Given the description of an element on the screen output the (x, y) to click on. 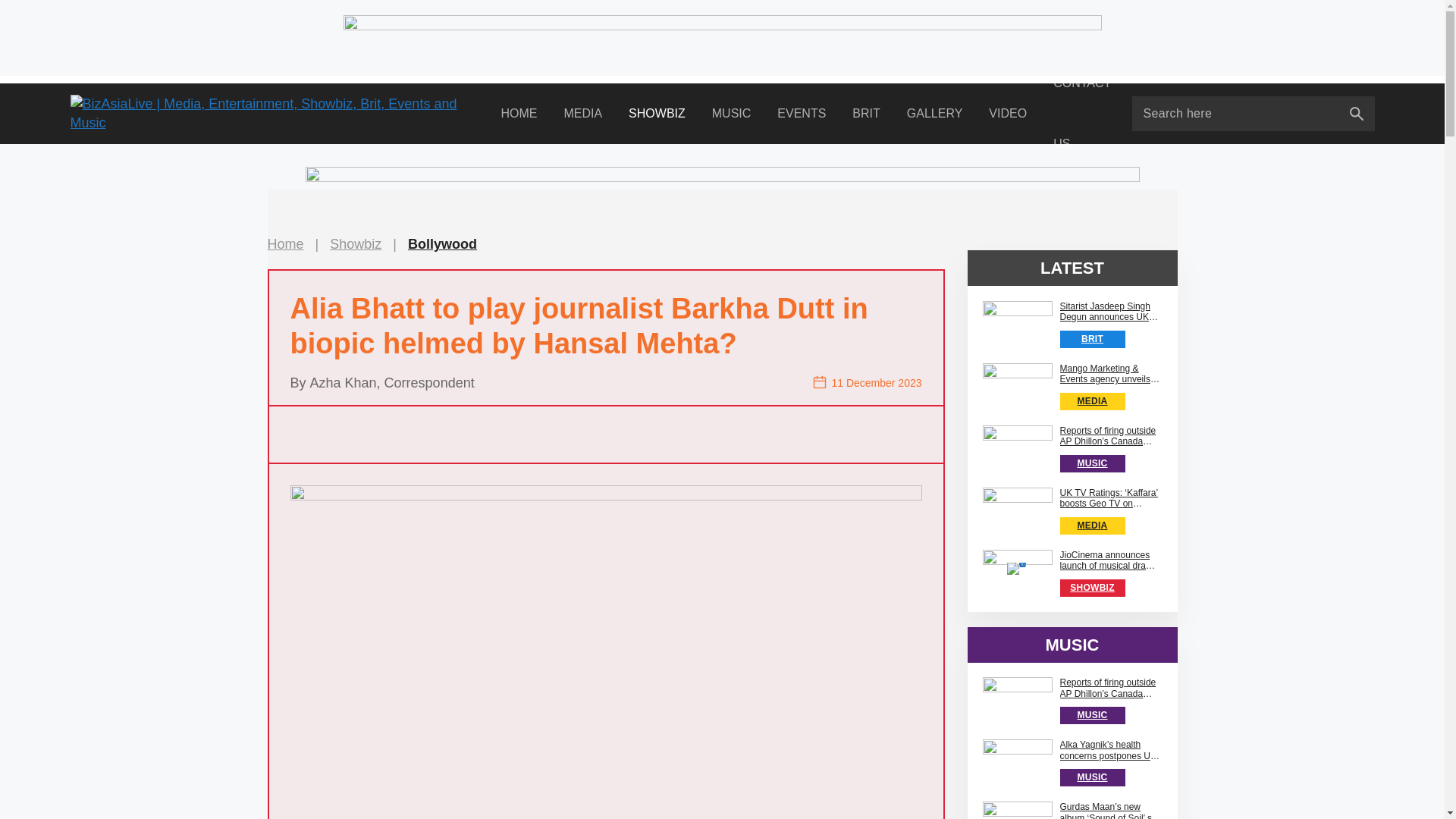
MEDIA (582, 113)
SHOWBIZ (656, 113)
Top header Banner (721, 37)
EVENTS (802, 113)
HOME (518, 113)
GALLERY (934, 113)
MUSIC (731, 113)
